Given the description of an element on the screen output the (x, y) to click on. 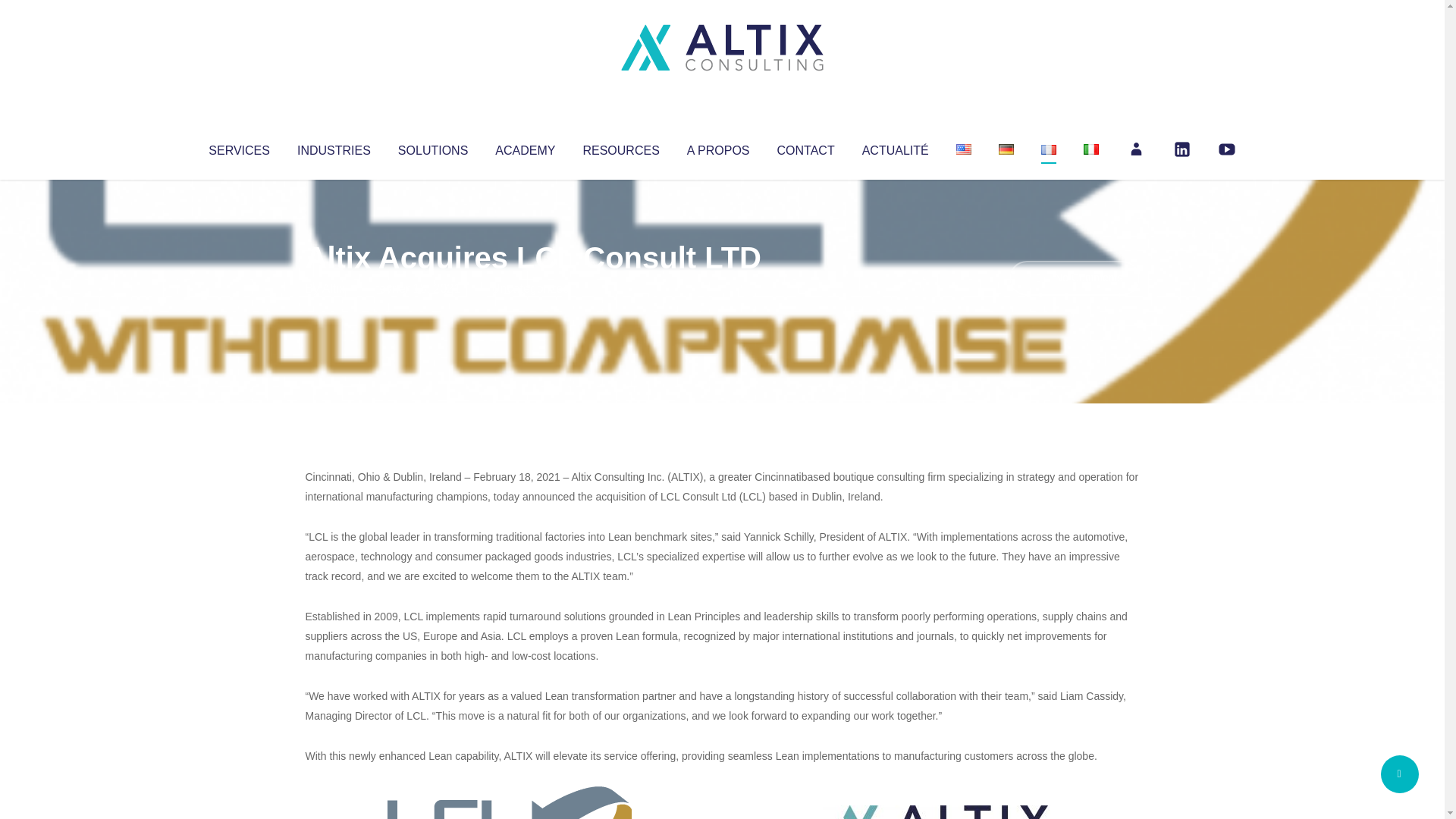
RESOURCES (620, 146)
A PROPOS (718, 146)
ACADEMY (524, 146)
No Comments (1073, 278)
Altix (333, 287)
INDUSTRIES (334, 146)
Articles par Altix (333, 287)
SERVICES (238, 146)
SOLUTIONS (432, 146)
Uncategorized (530, 287)
